Given the description of an element on the screen output the (x, y) to click on. 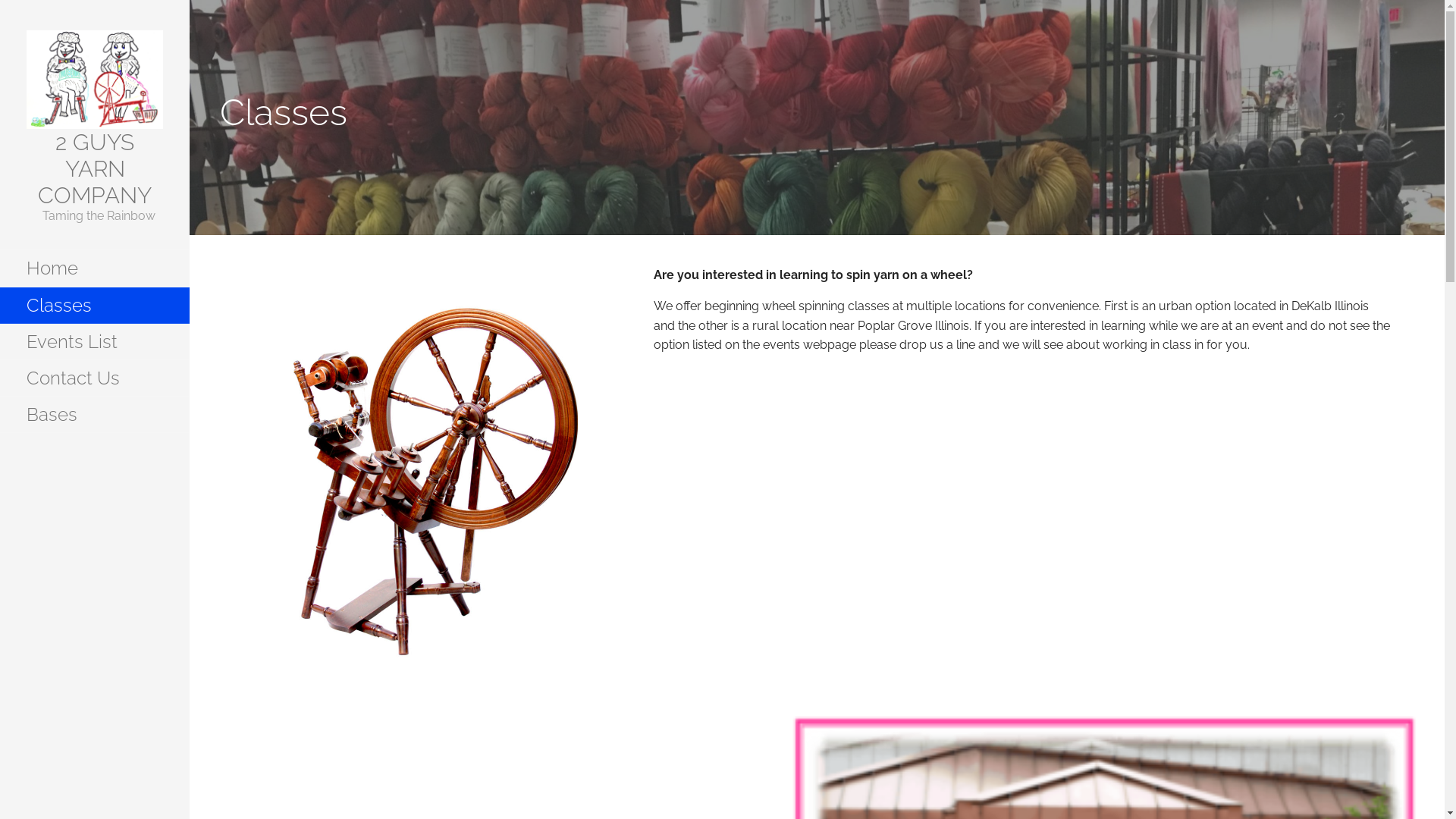
Classes Element type: text (94, 305)
Skip to content Element type: text (189, 0)
Contact Us Element type: text (94, 378)
2 GUYS YARN COMPANY Element type: text (94, 168)
Bases Element type: text (94, 414)
Home Element type: text (94, 268)
Events List Element type: text (94, 341)
